Given the description of an element on the screen output the (x, y) to click on. 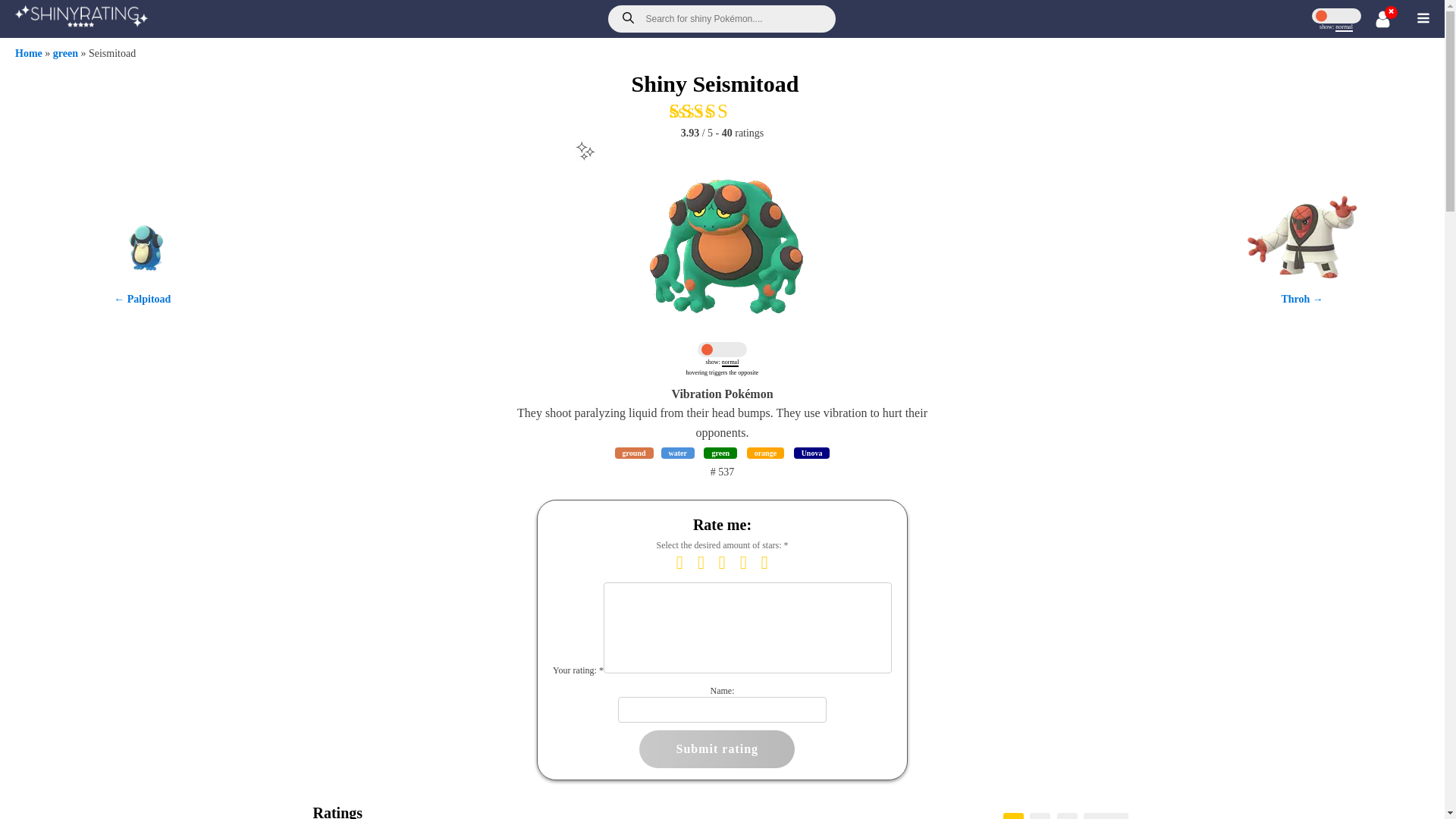
Shiny Palpitoad (141, 298)
Submit rating (716, 749)
Shiny Throh (1301, 298)
Shiny Throh (1301, 285)
Rate me! (721, 110)
Shiny Palpitoad (142, 285)
Shiny Seismitoad (721, 239)
